Given the description of an element on the screen output the (x, y) to click on. 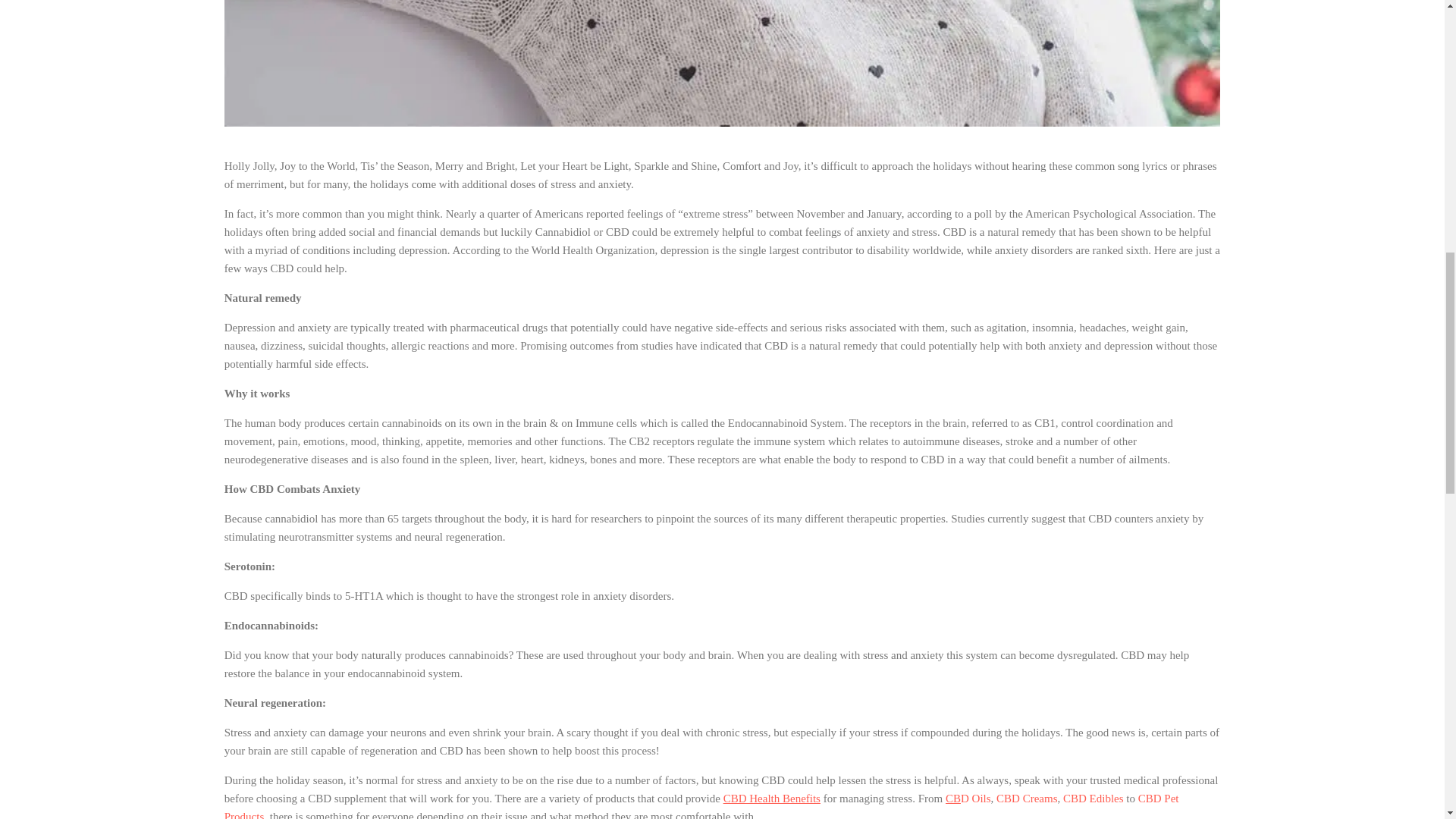
CBD Oils (967, 798)
CBD Health Benefits (772, 798)
CBD Creams (1026, 798)
CBD Pet Products (701, 805)
CBD Edibles (1093, 798)
